Given the description of an element on the screen output the (x, y) to click on. 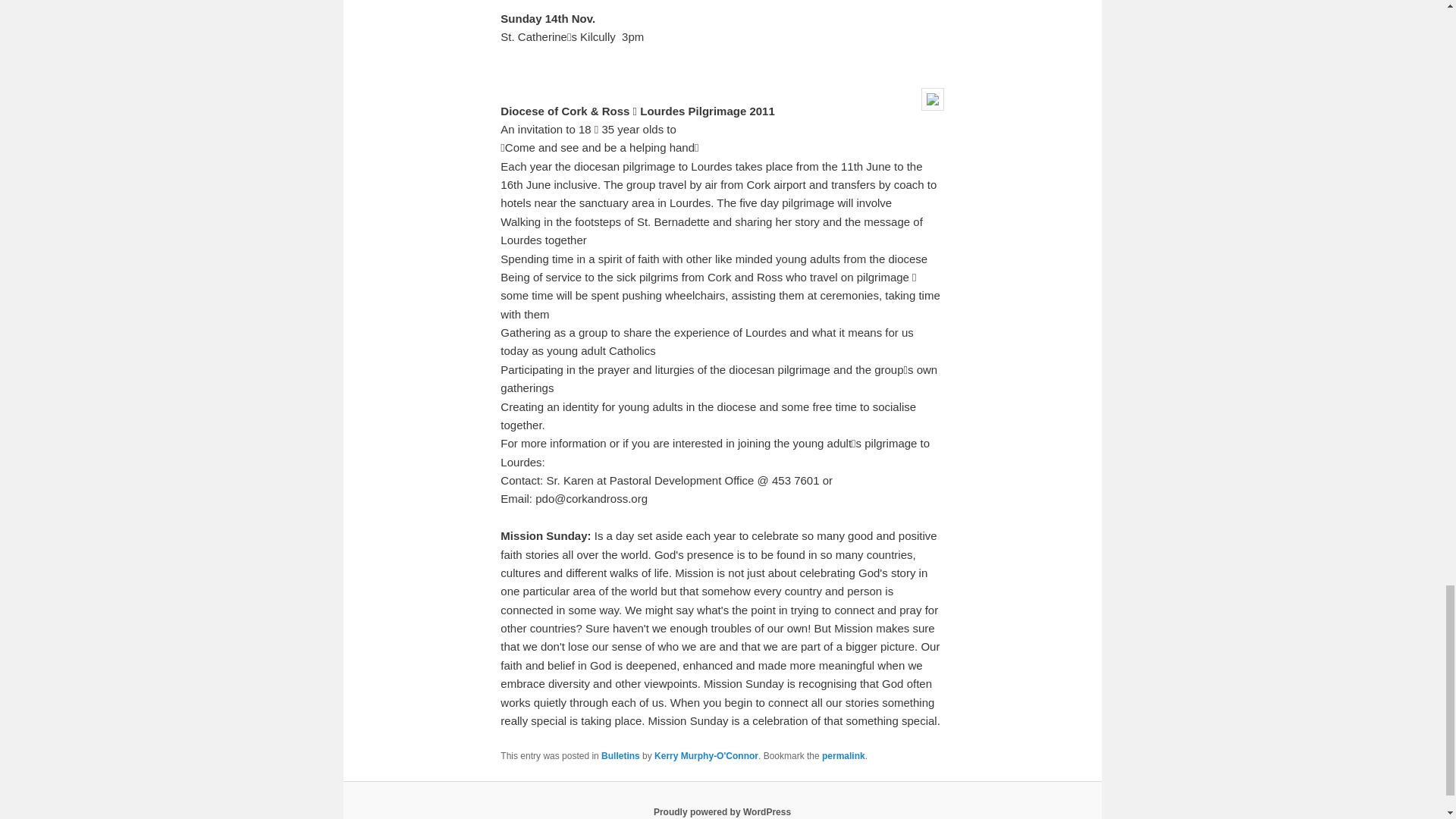
Proudly powered by WordPress (721, 810)
Bulletins (620, 756)
Semantic Personal Publishing Platform (721, 810)
permalink (843, 756)
Kerry Murphy-O'Connor (705, 756)
